Given the description of an element on the screen output the (x, y) to click on. 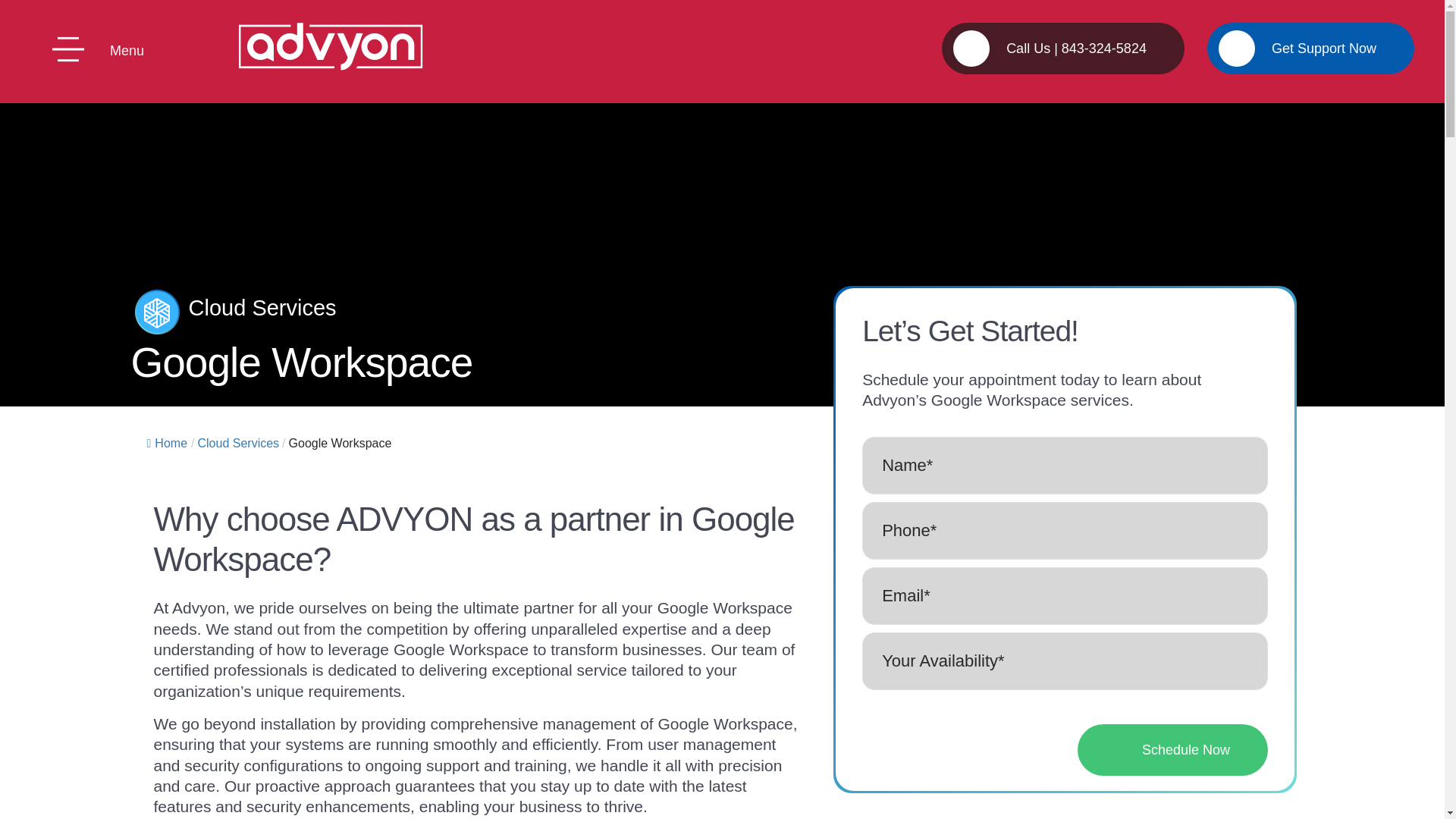
Google Workspace (339, 442)
Schedule Now (1172, 749)
ADVYON (330, 45)
Cloud Services (237, 442)
